Given the description of an element on the screen output the (x, y) to click on. 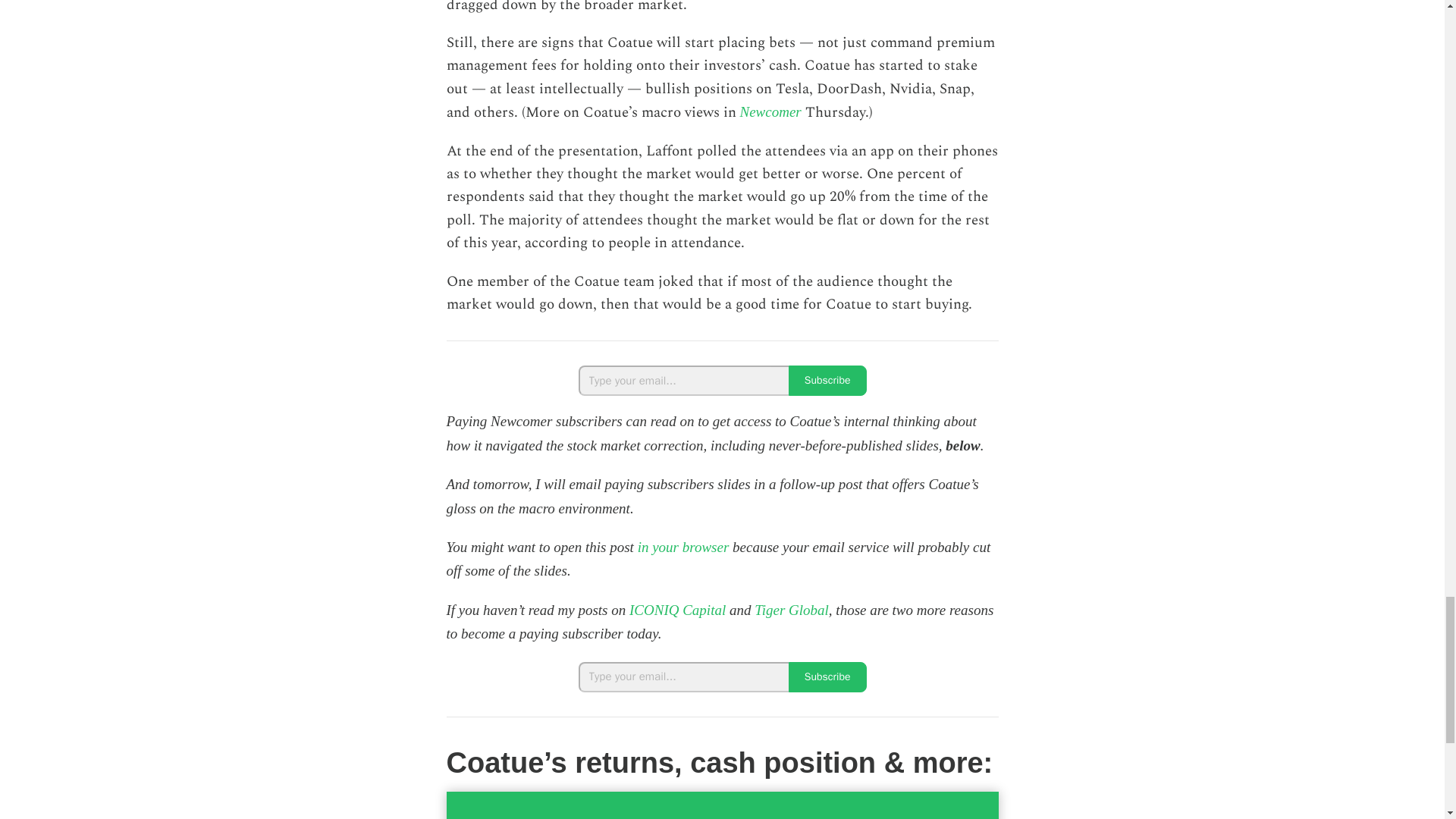
Tiger Global (791, 609)
Subscribe (827, 380)
Newcomer (770, 111)
in your browser (683, 546)
ICONIQ Capital (676, 609)
Subscribe (827, 675)
